Given the description of an element on the screen output the (x, y) to click on. 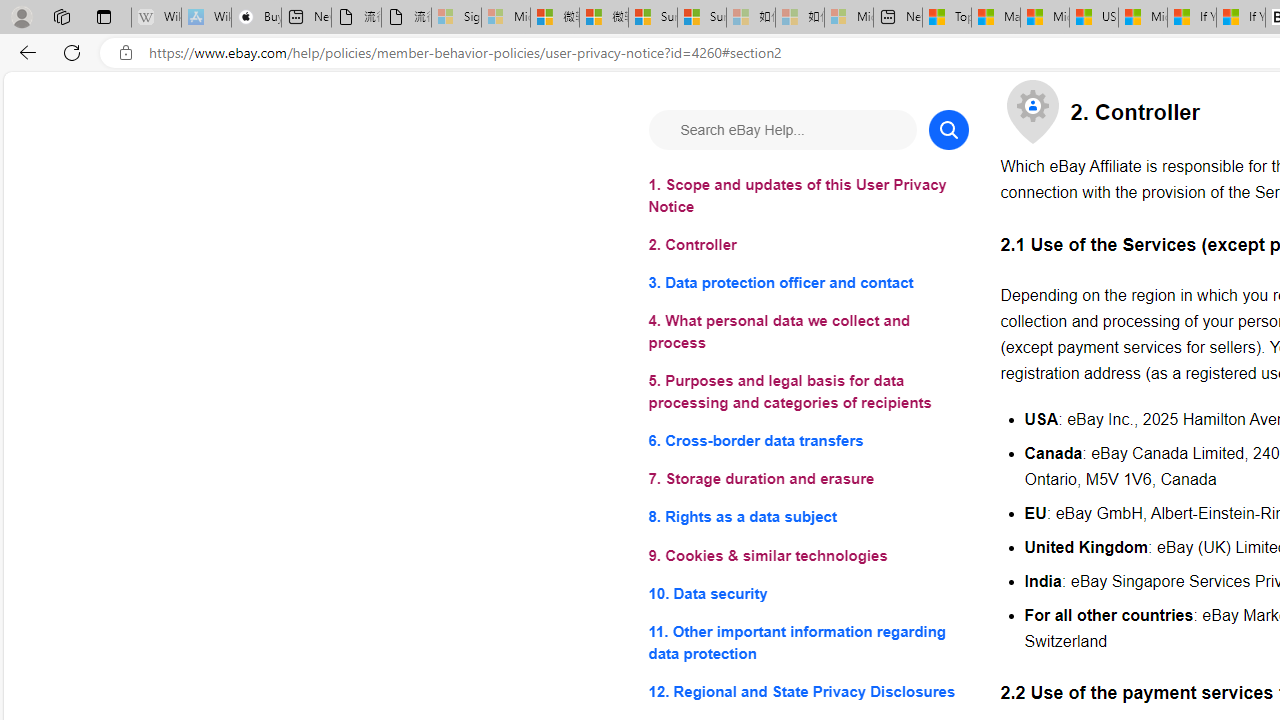
8. Rights as a data subject (807, 517)
12. Regional and State Privacy Disclosures (807, 690)
3. Data protection officer and contact (807, 283)
12. Regional and State Privacy Disclosures (807, 690)
1. Scope and updates of this User Privacy Notice (807, 196)
2. Controller (807, 245)
Search eBay Help... (781, 129)
9. Cookies & similar technologies (807, 555)
6. Cross-border data transfers (807, 440)
8. Rights as a data subject (807, 517)
